Given the description of an element on the screen output the (x, y) to click on. 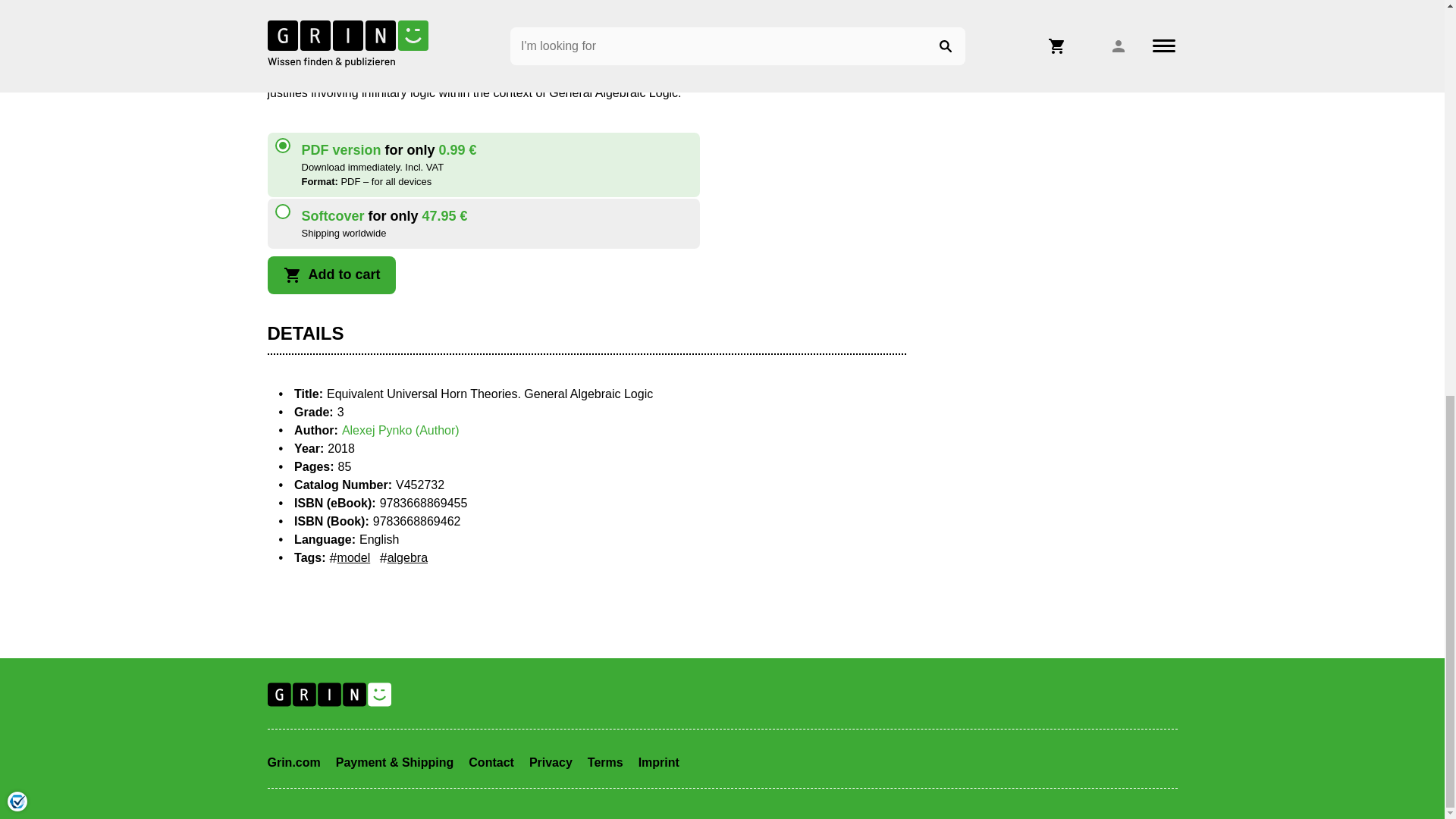
model (350, 557)
Privacy settings (17, 36)
Add to cart (330, 275)
algebra (404, 557)
